Given the description of an element on the screen output the (x, y) to click on. 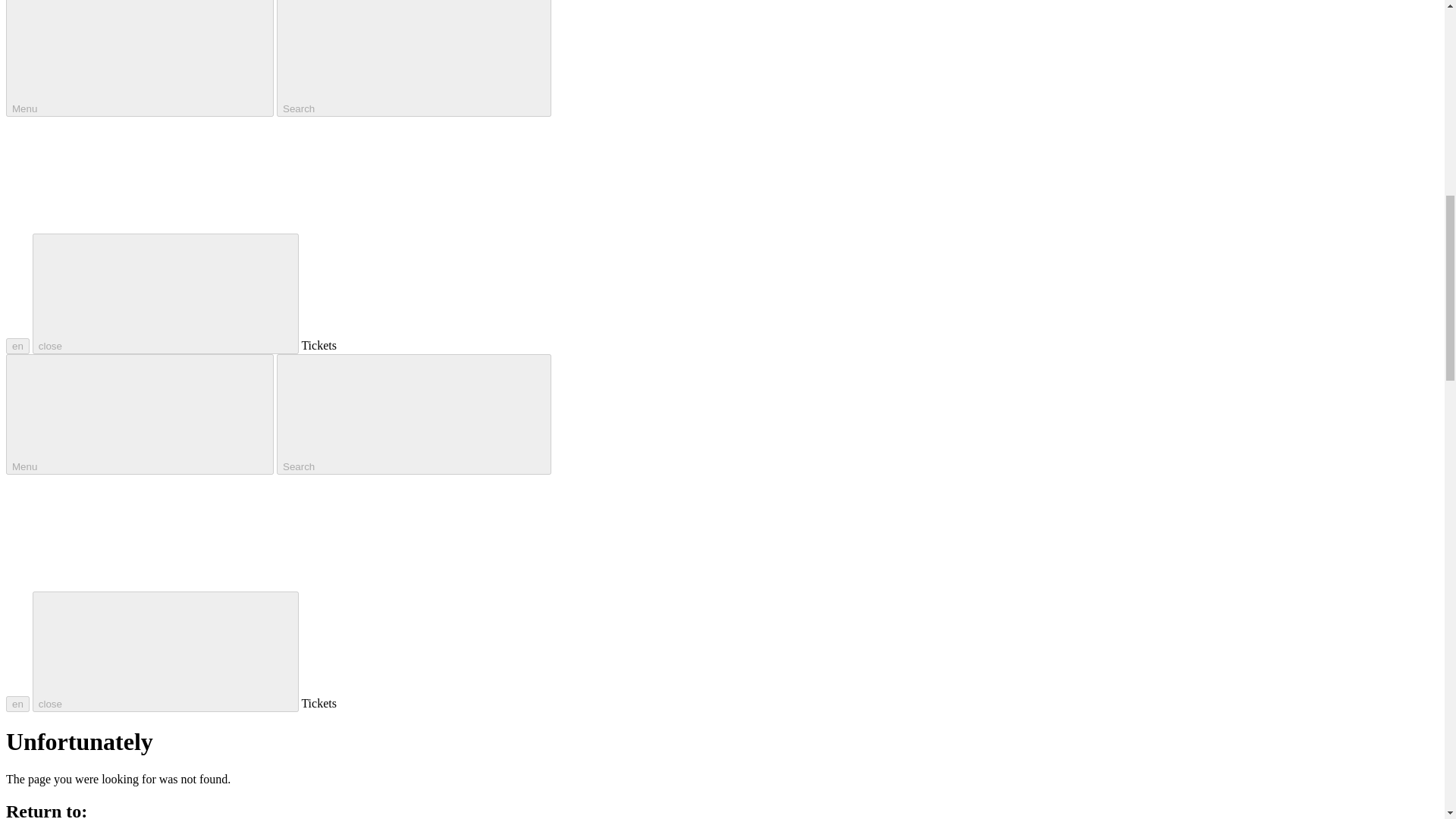
close (165, 293)
Search (413, 414)
close (165, 651)
en (17, 345)
Menu (139, 58)
en (17, 703)
Search (413, 58)
Menu (139, 414)
